Given the description of an element on the screen output the (x, y) to click on. 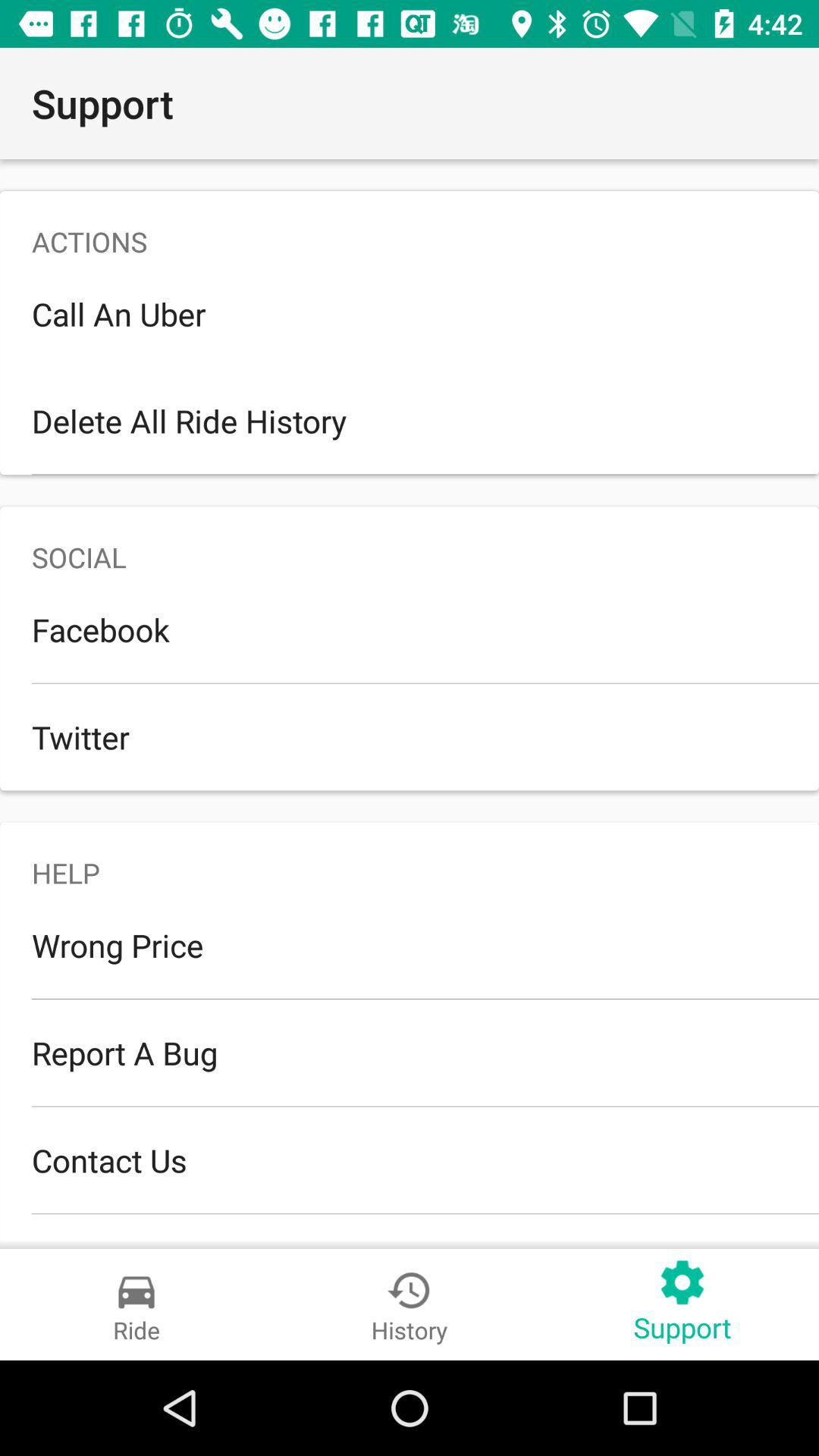
jump to the call an uber (409, 313)
